Given the description of an element on the screen output the (x, y) to click on. 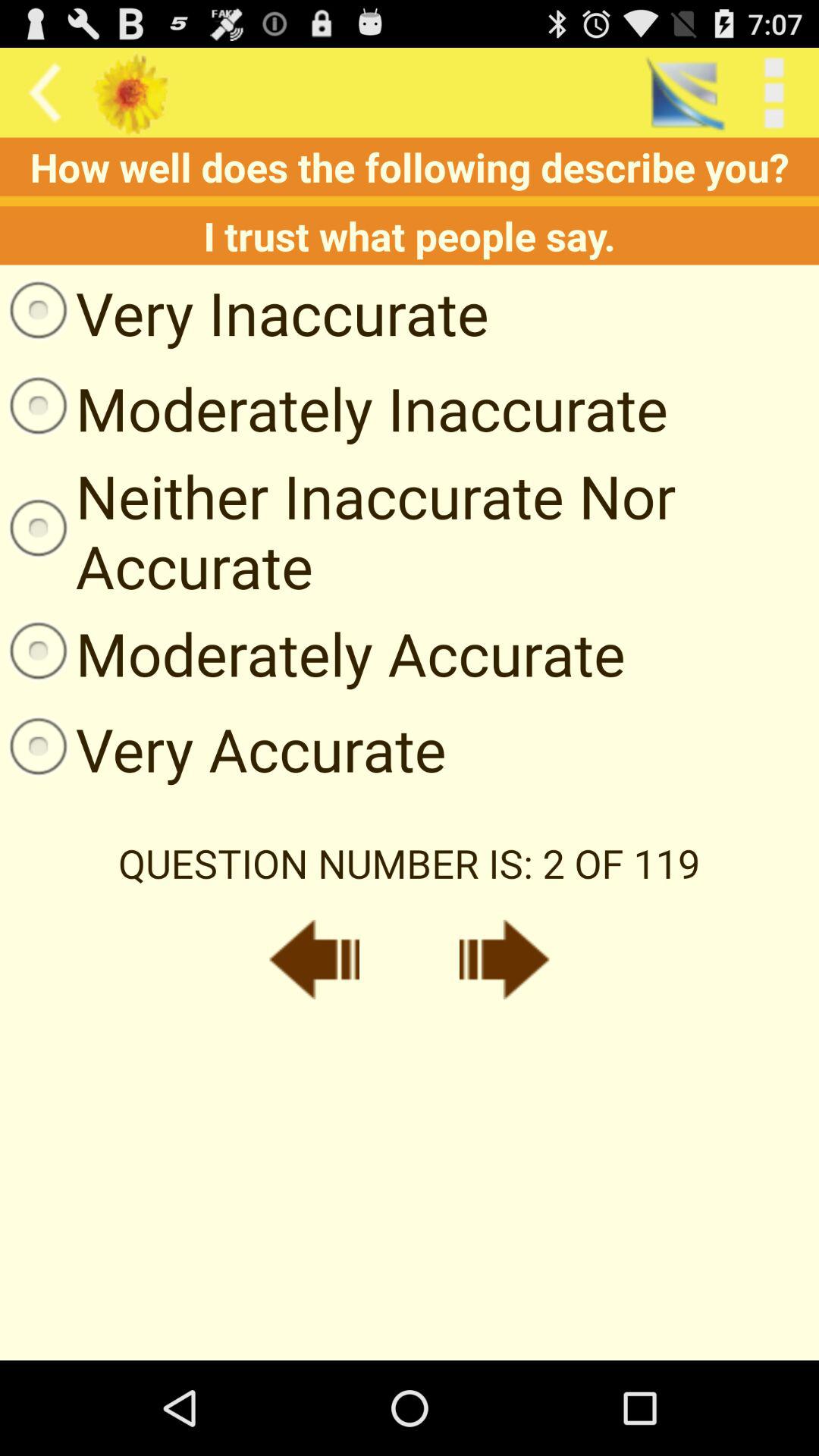
flip until the very inaccurate icon (244, 312)
